Given the description of an element on the screen output the (x, y) to click on. 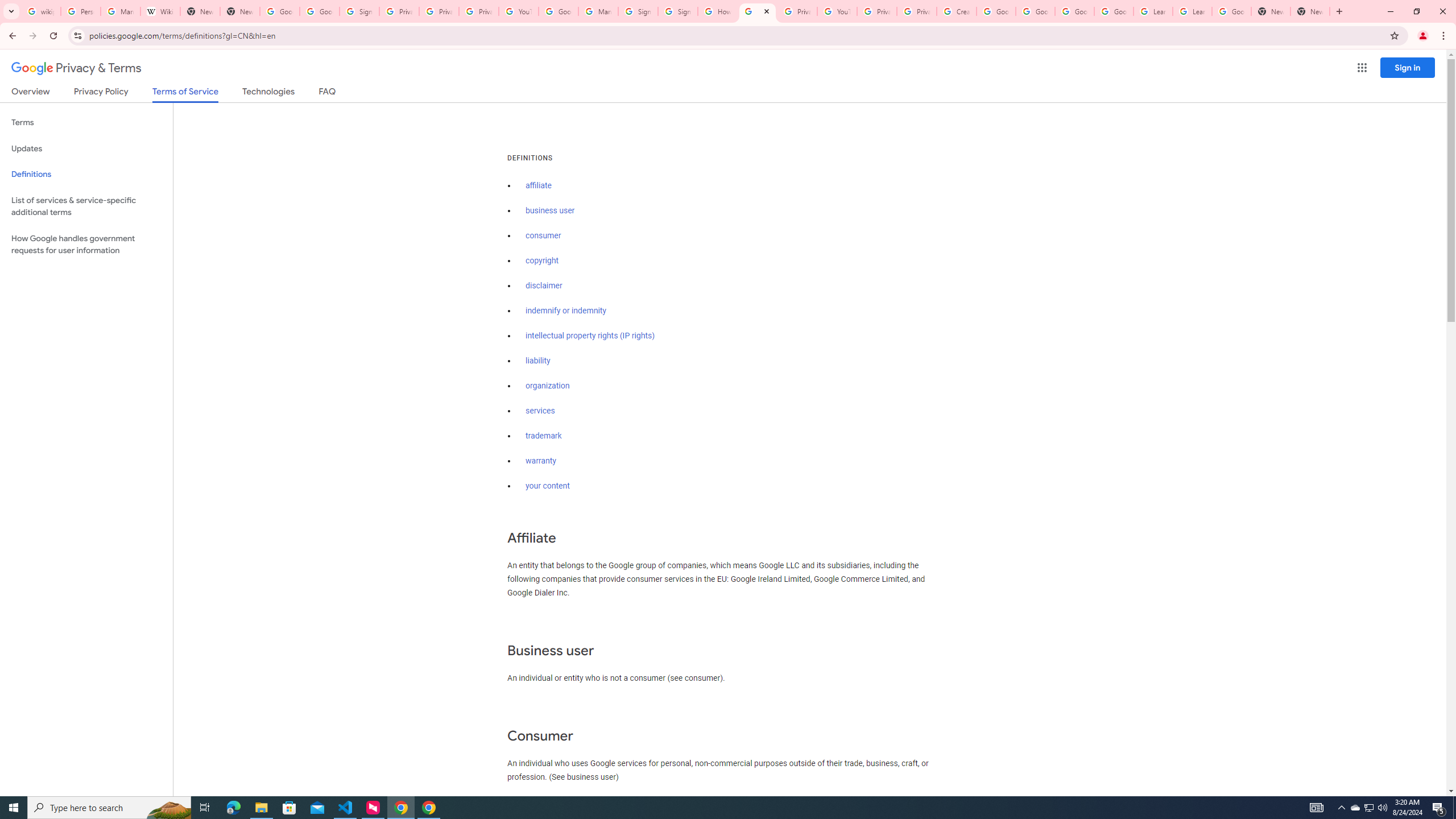
indemnify or indemnity (565, 311)
Create your Google Account (956, 11)
your content (547, 486)
business user (550, 210)
Wikipedia:Edit requests - Wikipedia (159, 11)
trademark (543, 435)
Sign in - Google Accounts (359, 11)
